Given the description of an element on the screen output the (x, y) to click on. 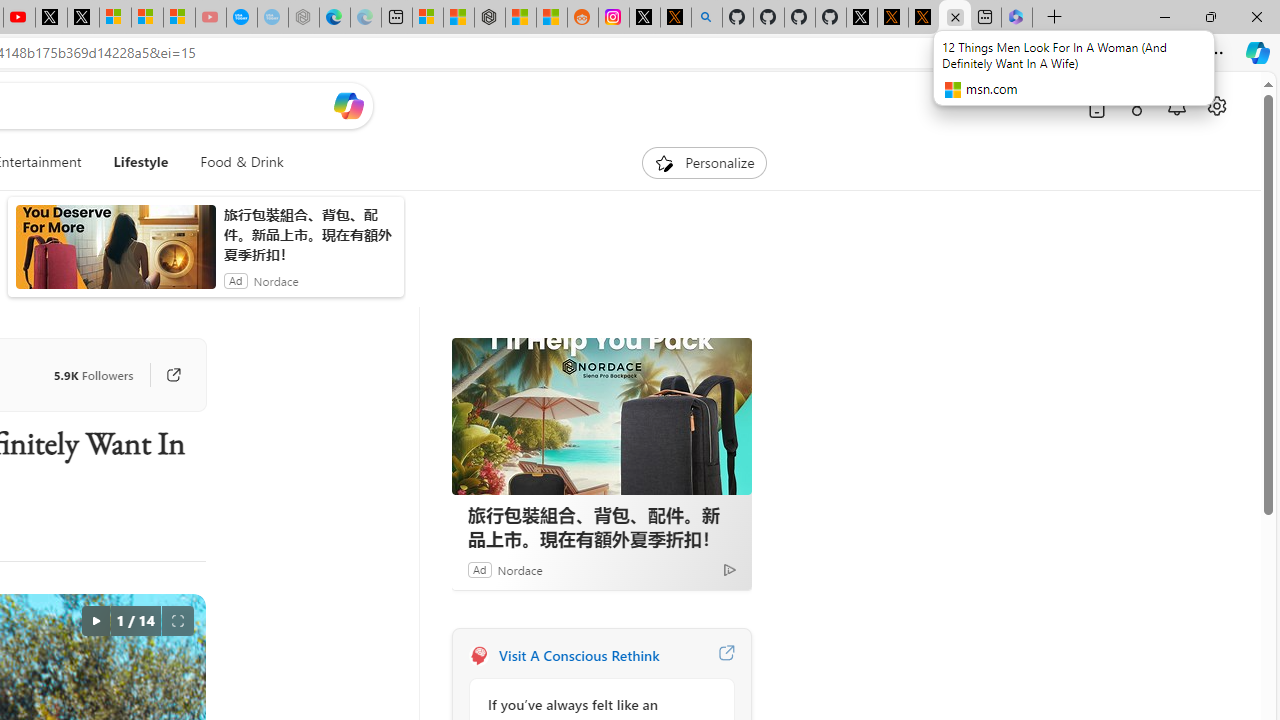
anim-content (115, 255)
X Privacy Policy (923, 17)
Lifestyle (140, 162)
Login | Microsoft 365 (1016, 17)
Opinion: Op-Ed and Commentary - USA TODAY (241, 17)
github - Search (706, 17)
A Conscious Rethink (478, 655)
